Given the description of an element on the screen output the (x, y) to click on. 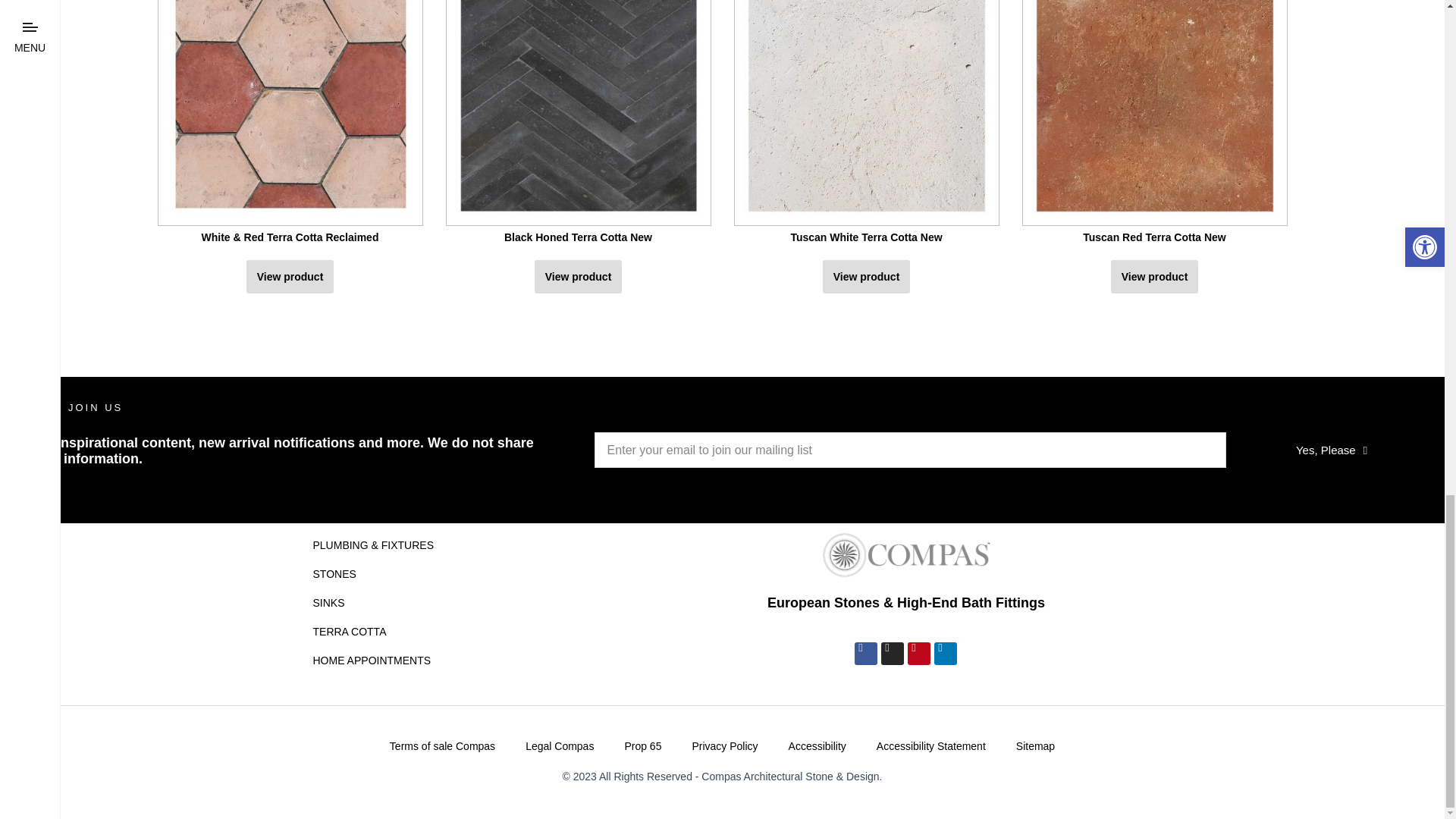
View product (1154, 276)
Tuscan White Terra Cotta New (865, 124)
STONES (392, 573)
TERRA COTTA (392, 631)
Yes, Please (1331, 449)
View product (290, 276)
View product (578, 276)
Tuscan Red Terra Cotta New (1154, 124)
SINKS (392, 602)
Black Honed Terra Cotta New (578, 124)
